Given the description of an element on the screen output the (x, y) to click on. 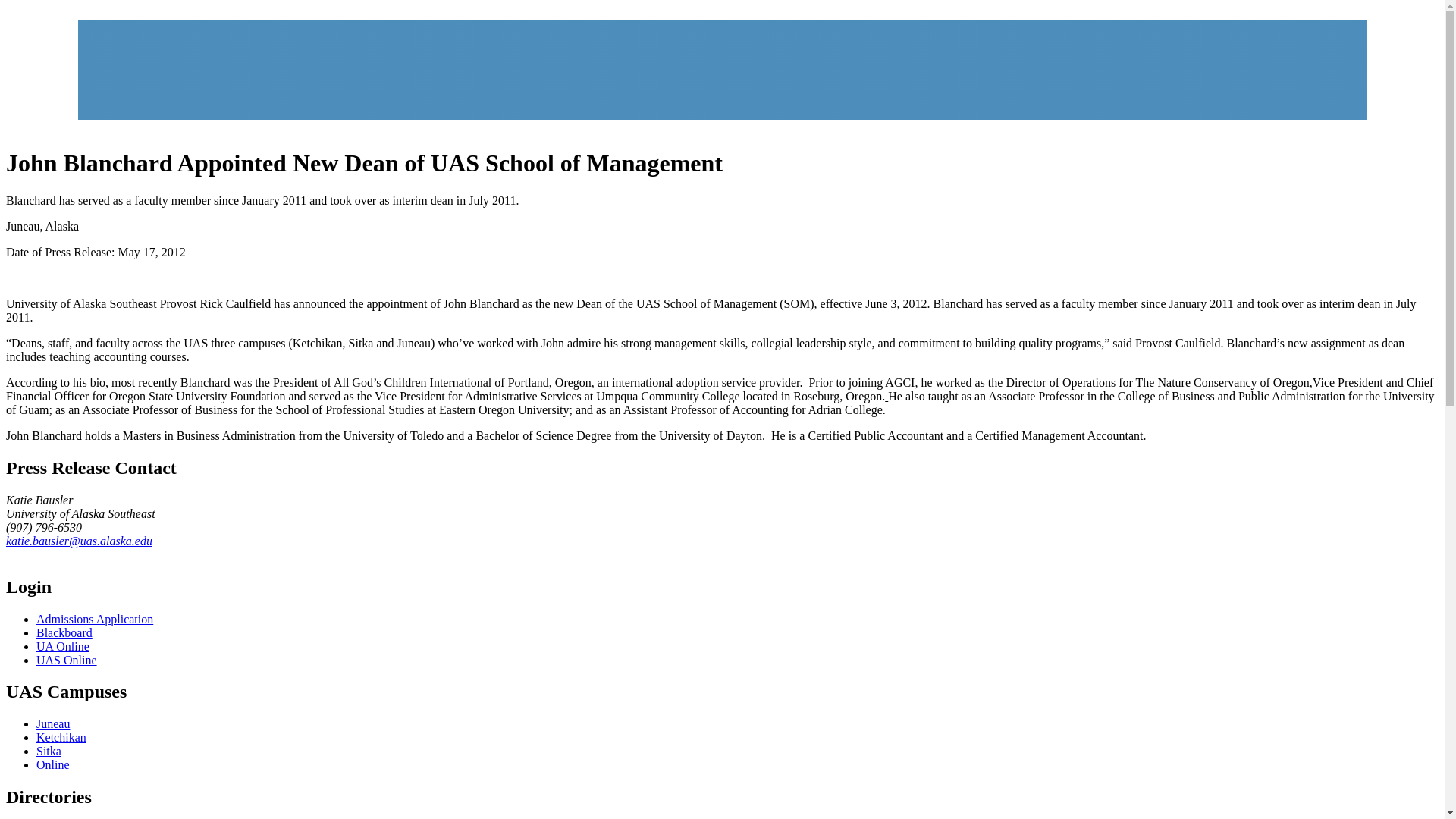
Admissions Application (94, 618)
Sitka (48, 750)
Ketchikan (60, 737)
UAS Online (66, 659)
UA Online (62, 645)
Juneau (52, 723)
Skip to Main Content (61, 12)
Blackboard (64, 632)
Online (52, 764)
